Given the description of an element on the screen output the (x, y) to click on. 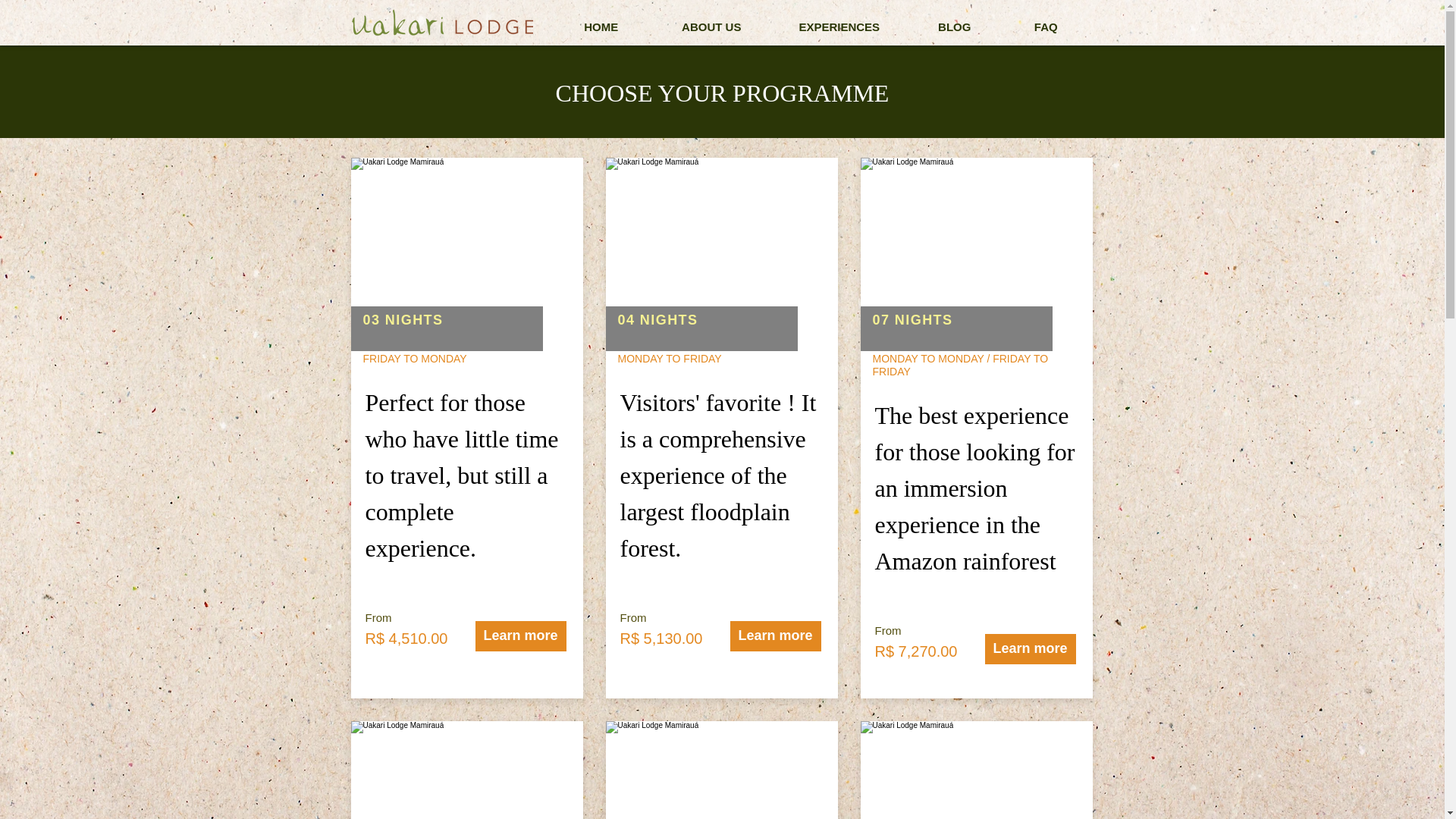
BLOG (955, 27)
HOME (600, 27)
EXPERIENCES (839, 27)
Learn more (1029, 648)
Learn more (775, 634)
Learn more (520, 634)
ABOUT US (710, 27)
